Given the description of an element on the screen output the (x, y) to click on. 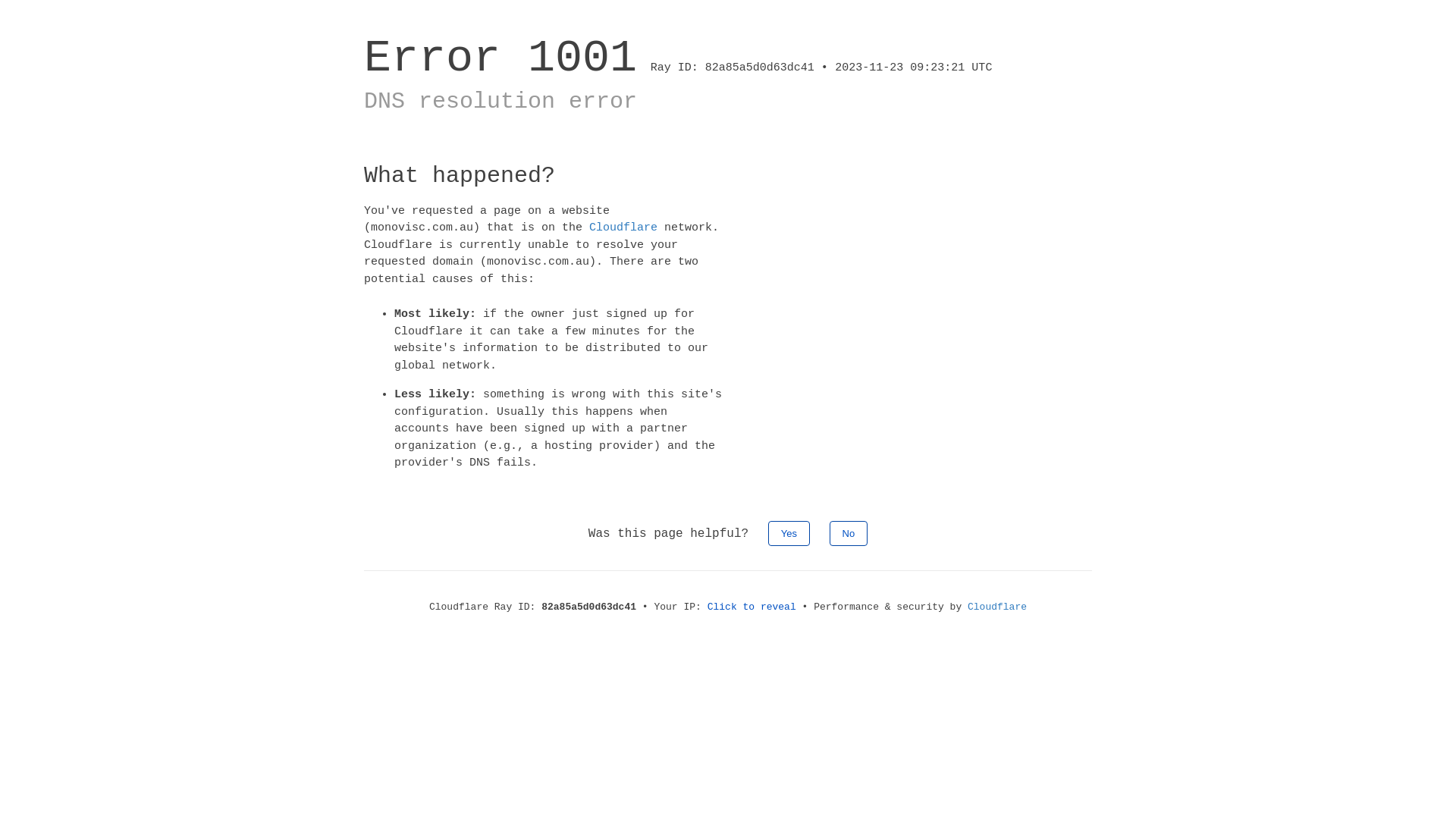
Cloudflare Element type: text (623, 227)
Cloudflare Element type: text (996, 605)
Click to reveal Element type: text (751, 605)
Yes Element type: text (788, 532)
No Element type: text (848, 532)
